Given the description of an element on the screen output the (x, y) to click on. 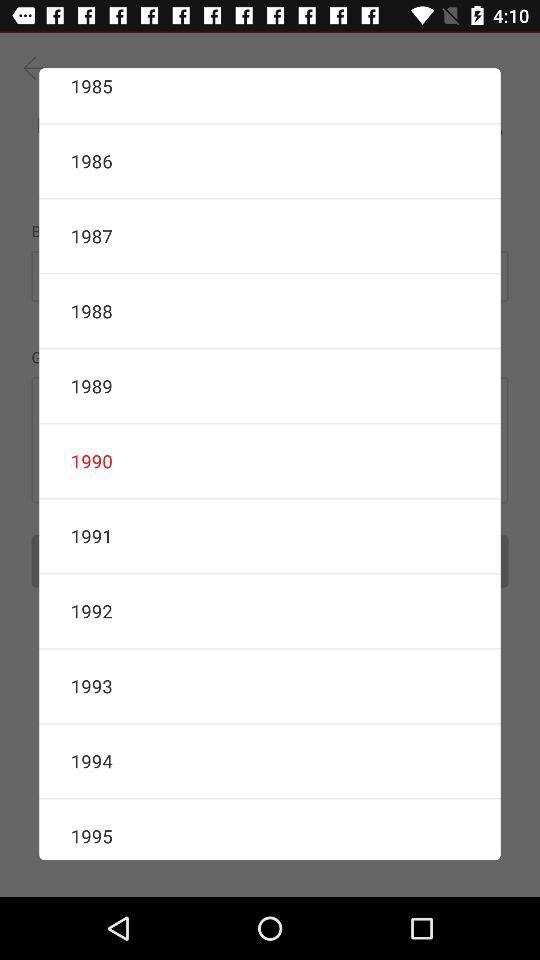
open 1992 item (269, 611)
